Given the description of an element on the screen output the (x, y) to click on. 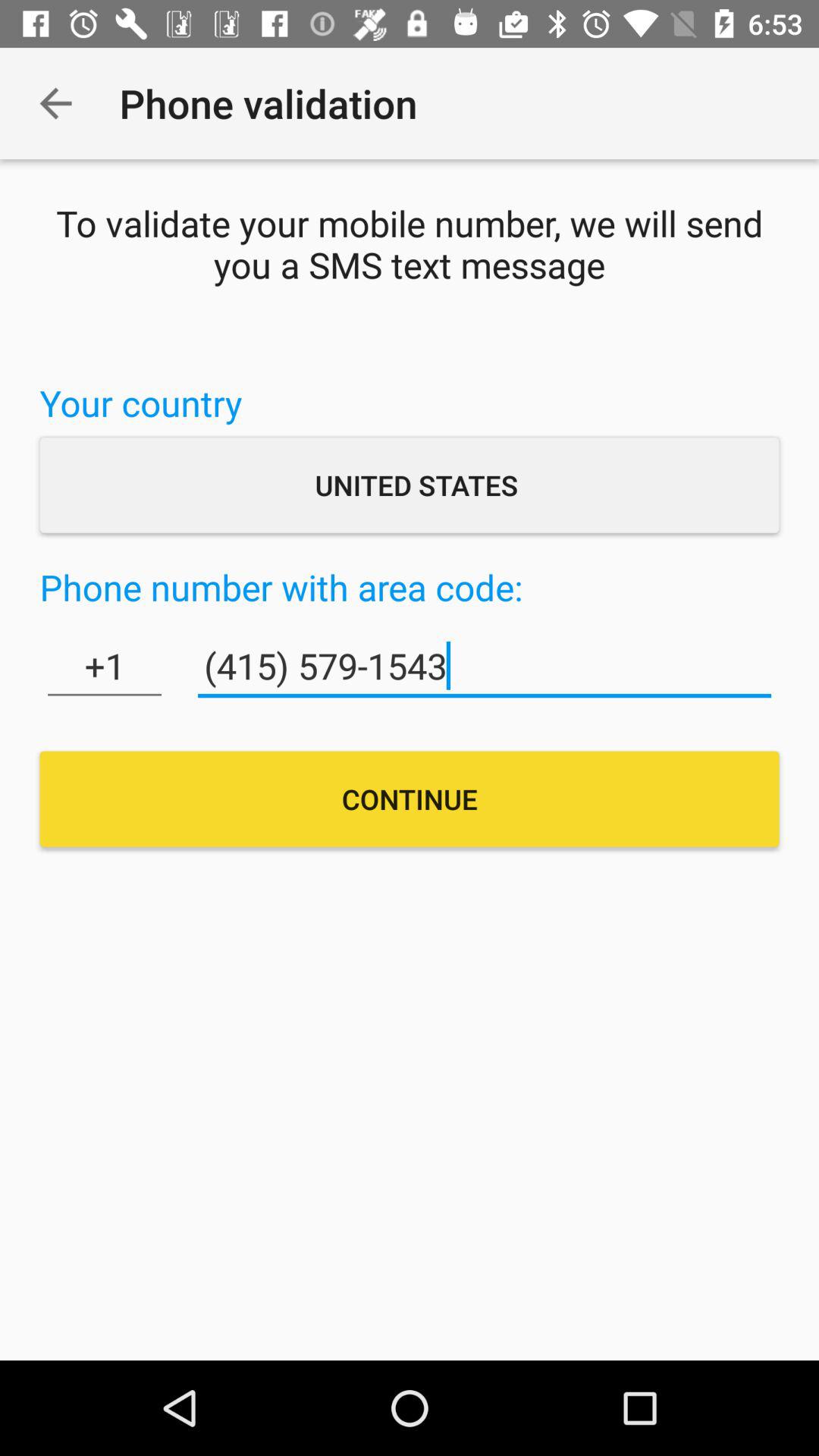
turn on icon to the left of (415) 579-1543 (104, 666)
